Given the description of an element on the screen output the (x, y) to click on. 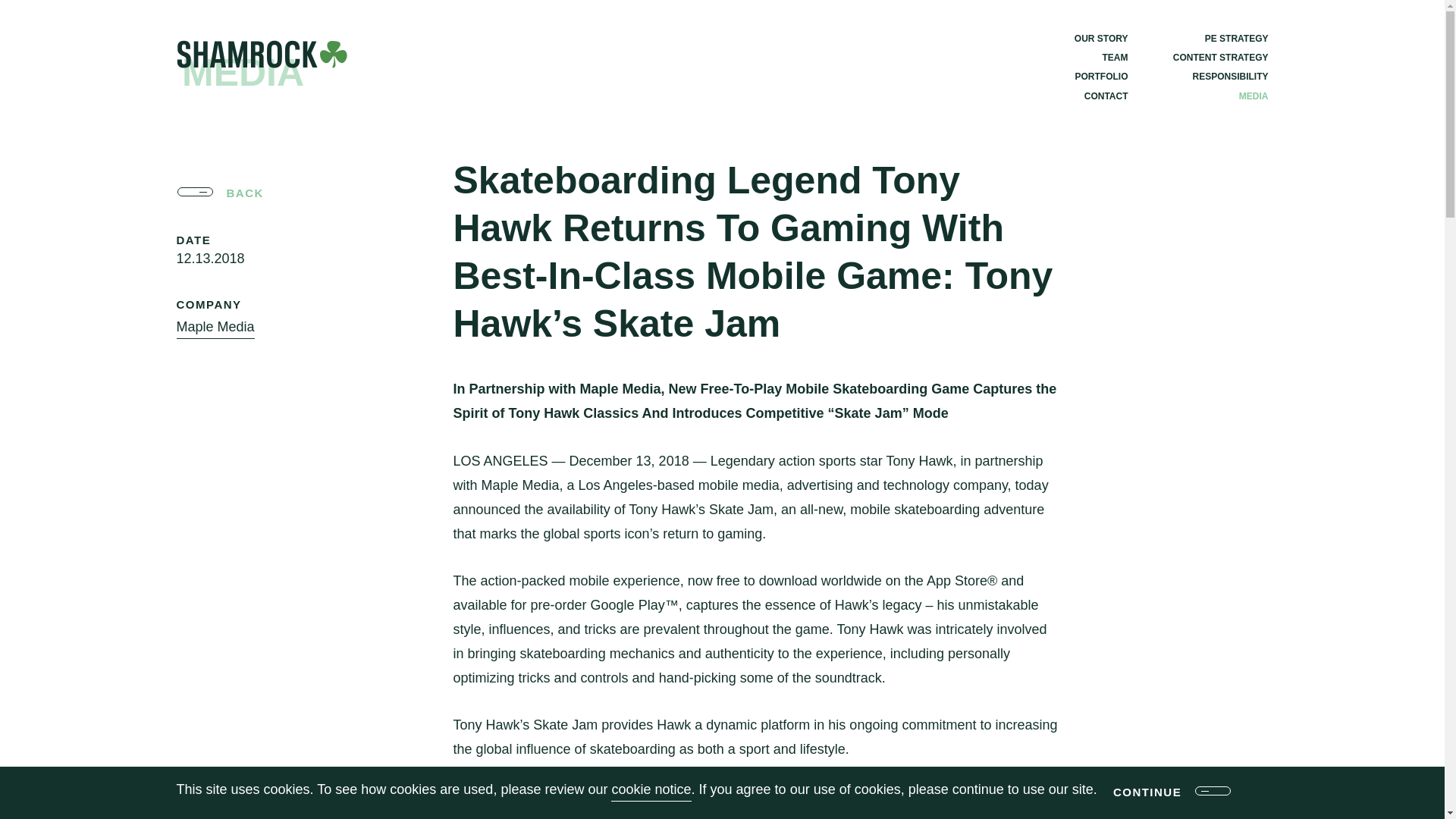
MEDIA (1184, 650)
PORTFOLIO (949, 626)
RESPONSIBILITY (1160, 626)
CONTENT STRATEGY (1150, 601)
TEAM (1115, 57)
MEDIA (1253, 96)
CONTINUE (1146, 799)
PE STRATEGY (1166, 578)
Sitemap (663, 754)
Legal (716, 754)
